Given the description of an element on the screen output the (x, y) to click on. 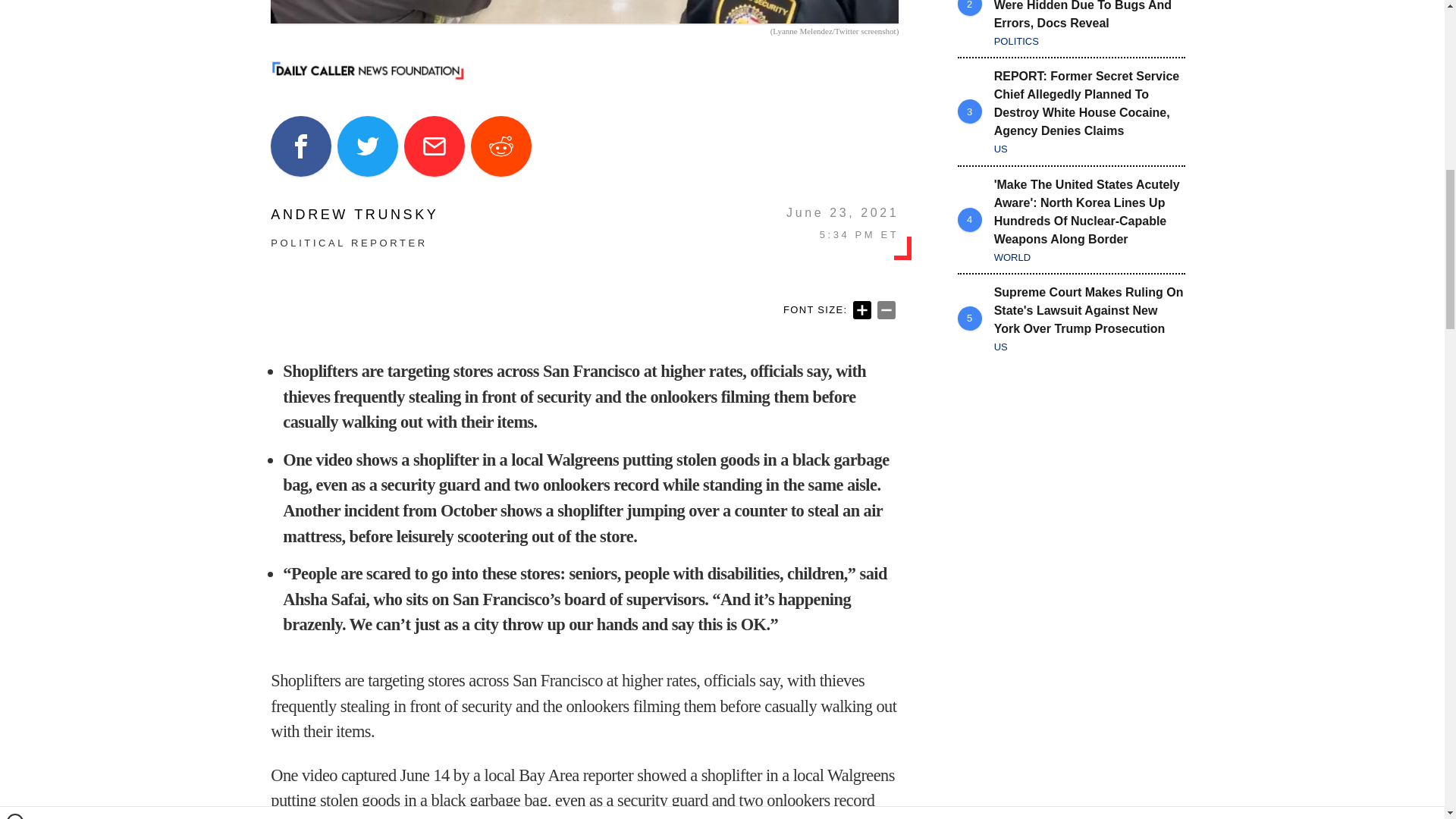
video (554, 817)
View More Articles By Andrew Trunsky (354, 214)
Close window (14, 6)
Screen Shot 2021-06-23 at 12.56.43 PM copy (584, 11)
ANDREW TRUNSKY (354, 214)
